Given the description of an element on the screen output the (x, y) to click on. 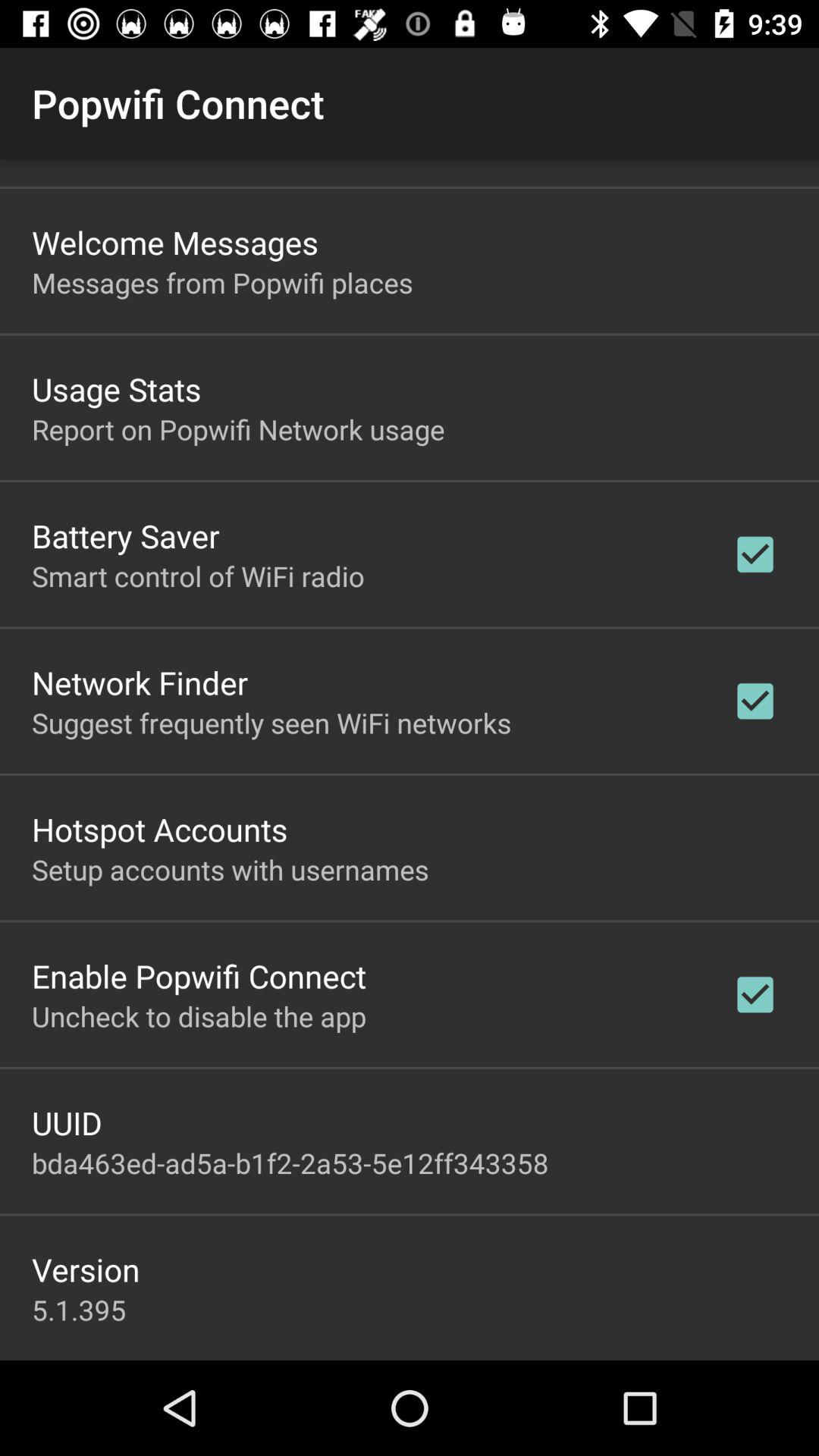
swipe until the usage stats item (116, 388)
